Given the description of an element on the screen output the (x, y) to click on. 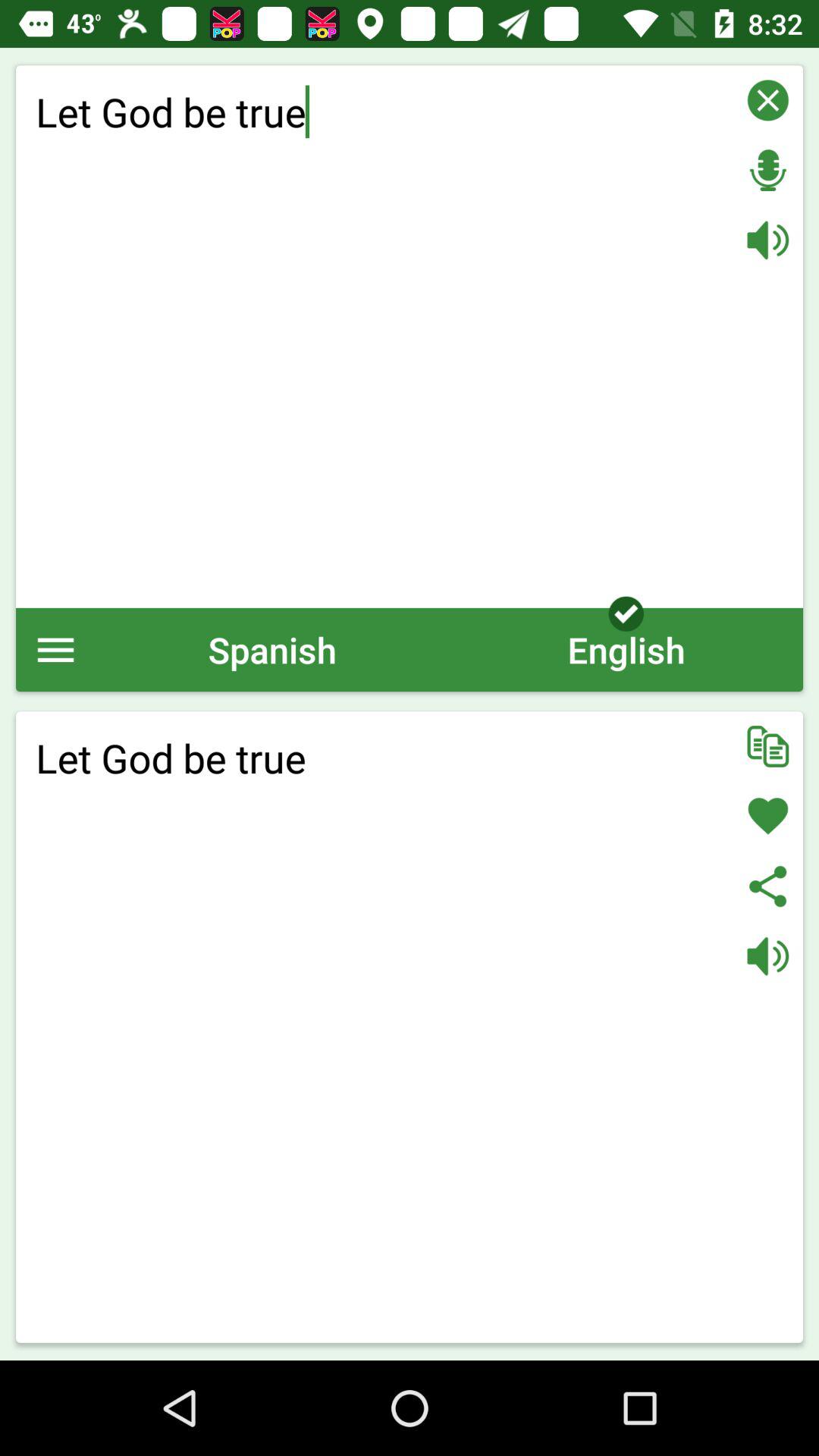
toggle menu (55, 649)
